Given the description of an element on the screen output the (x, y) to click on. 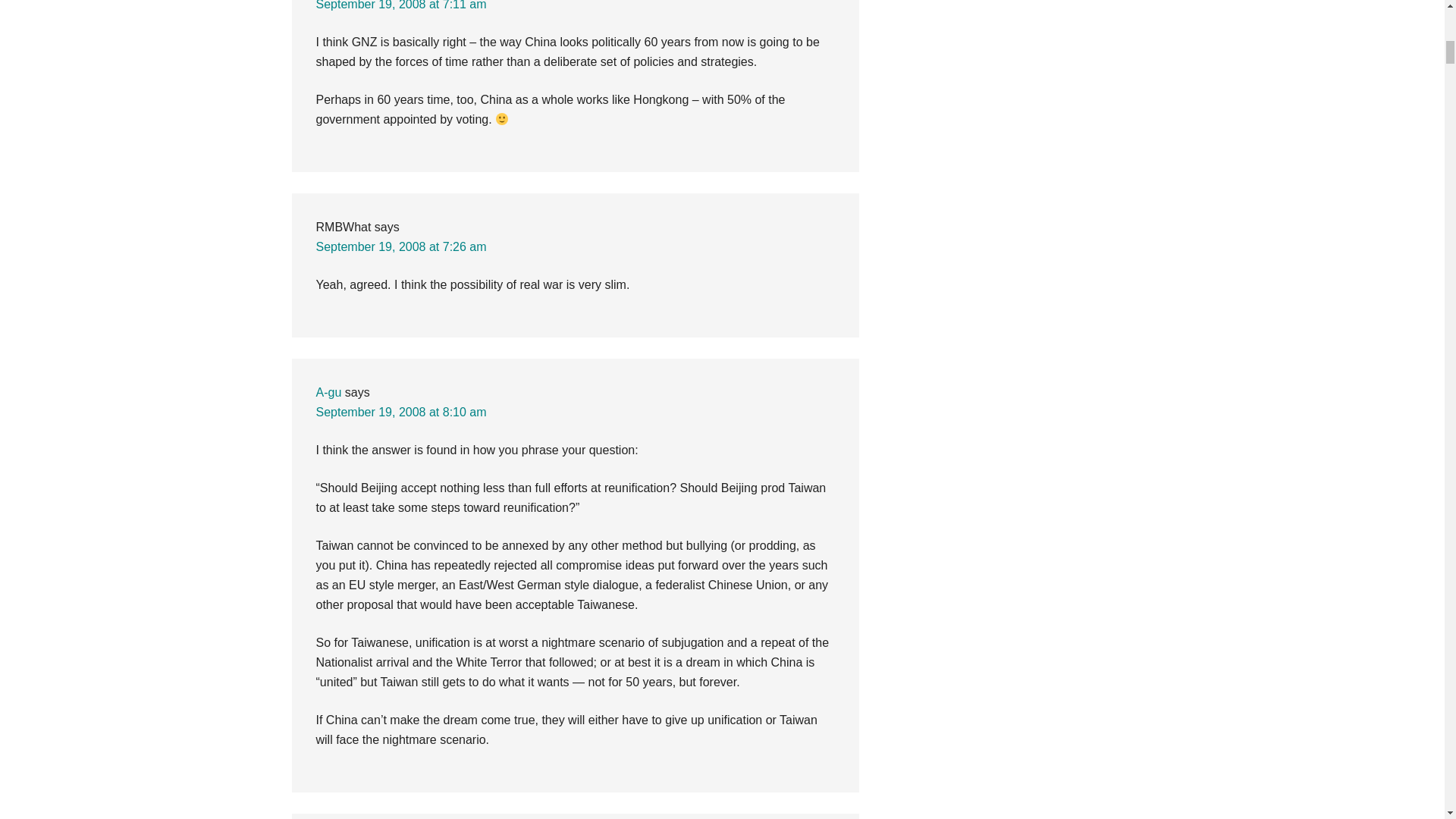
September 19, 2008 at 7:11 am (400, 5)
A-gu (327, 391)
September 19, 2008 at 8:10 am (400, 411)
September 19, 2008 at 7:26 am (400, 246)
